Given the description of an element on the screen output the (x, y) to click on. 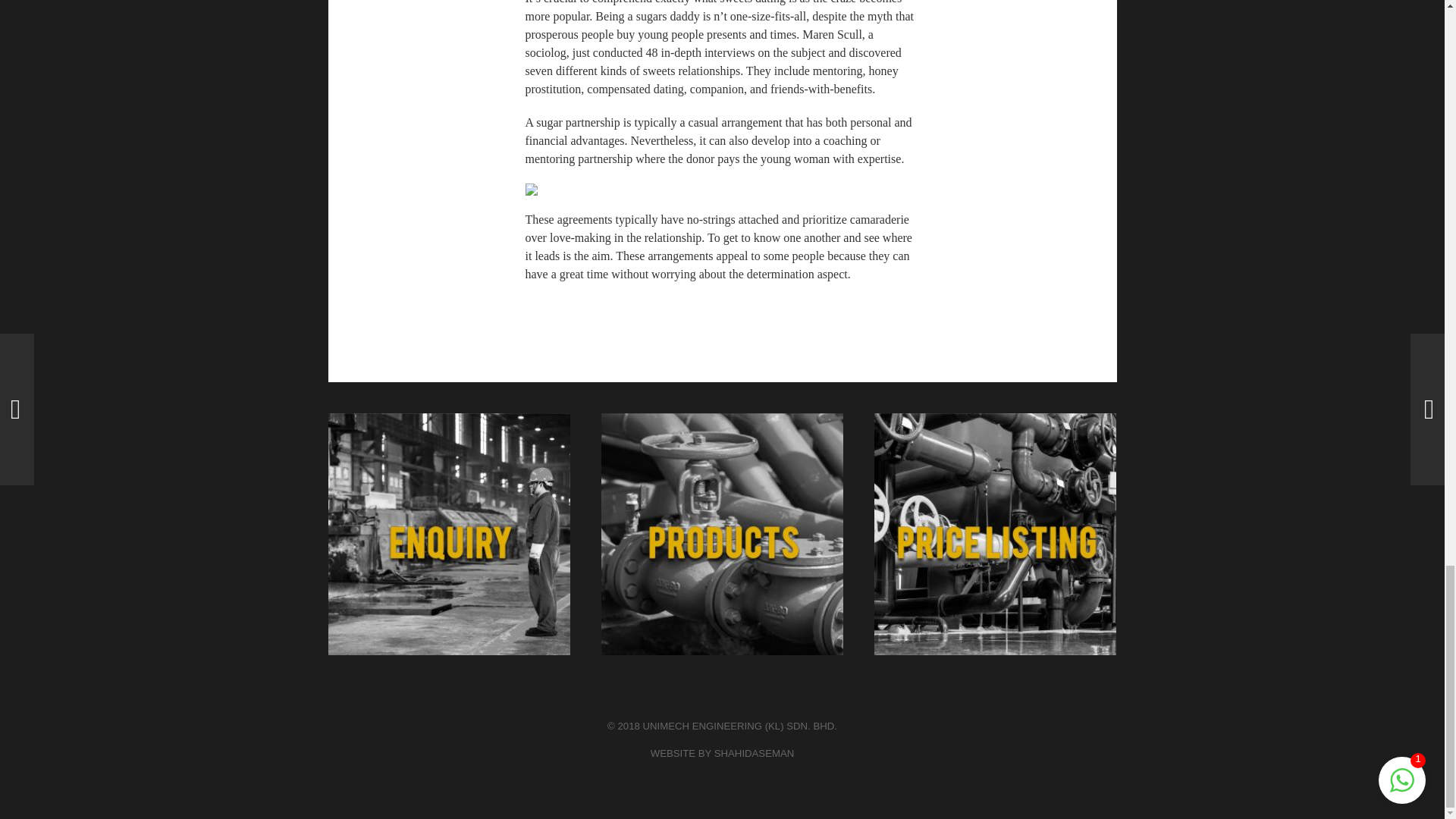
SHAHIDASEMAN (754, 753)
